Given the description of an element on the screen output the (x, y) to click on. 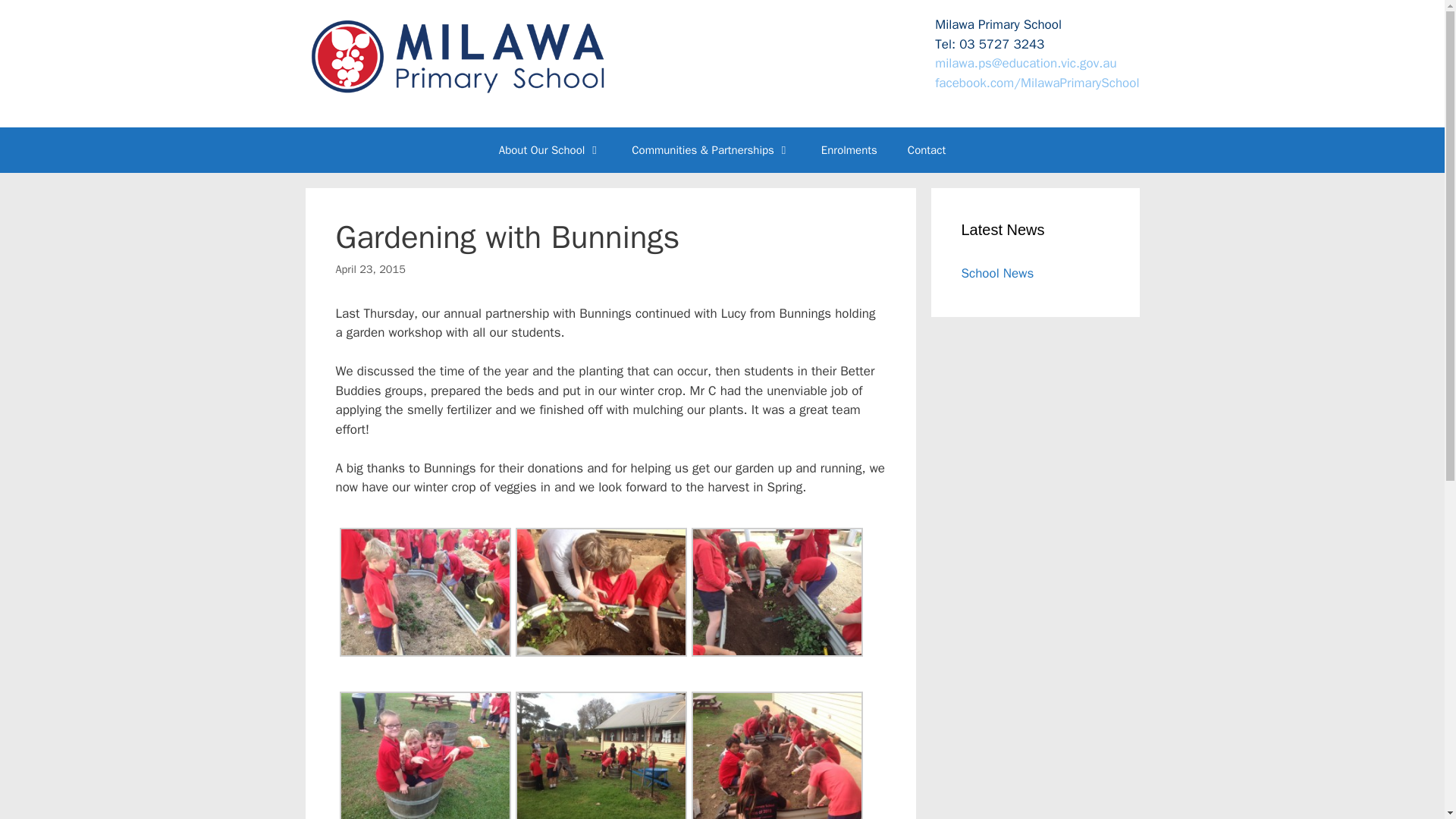
Enrolments (849, 149)
School News (996, 273)
Contact (926, 149)
About Our School (550, 149)
